Given the description of an element on the screen output the (x, y) to click on. 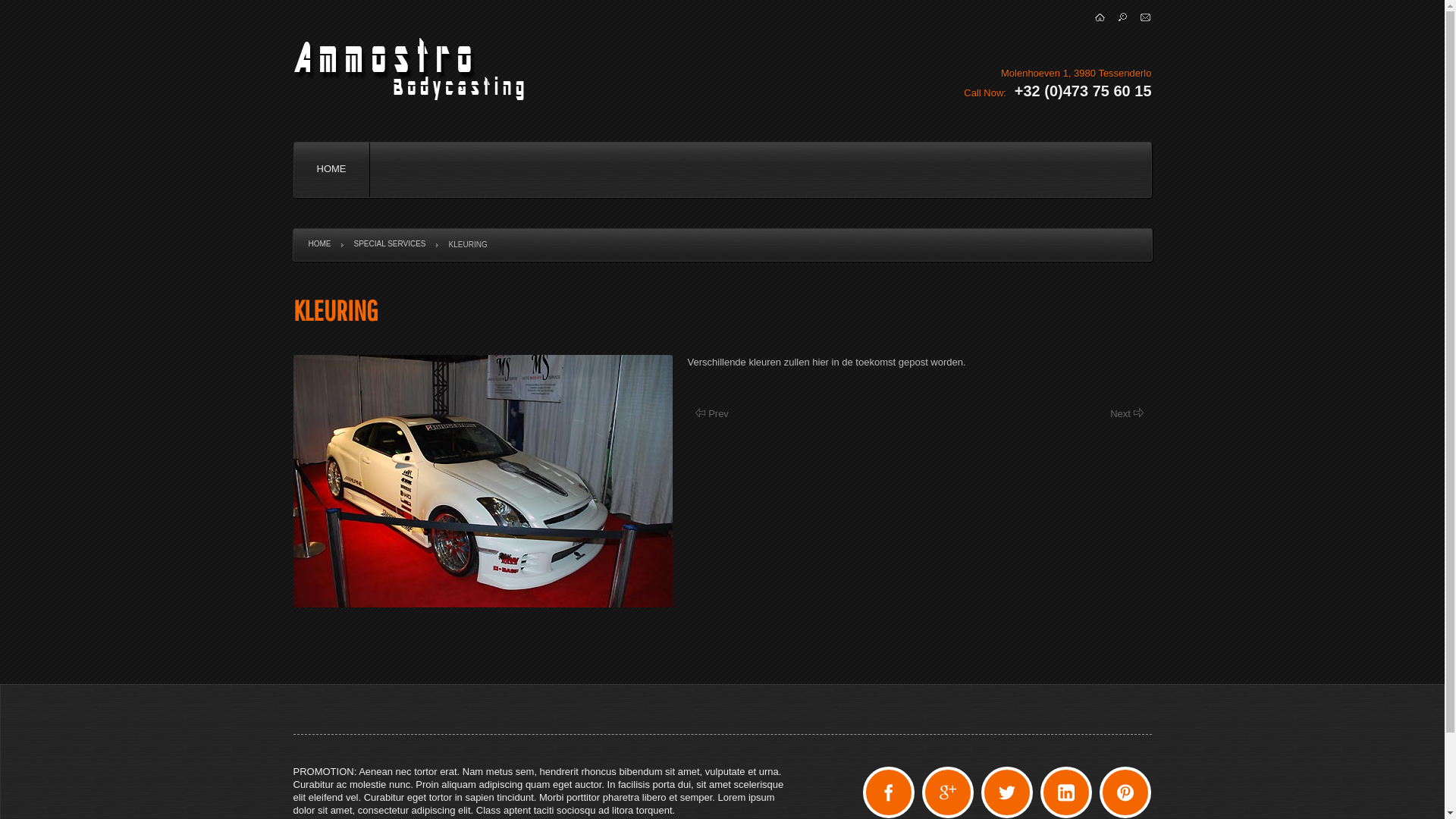
Next Element type: text (1126, 413)
Prev Element type: text (711, 413)
Twitter Element type: hover (1006, 792)
HOME Element type: text (318, 243)
Pinterest Element type: hover (1125, 792)
LinkedIn Element type: hover (1066, 792)
Google Element type: hover (947, 792)
HOME Element type: text (331, 168)
SPECIAL SERVICES Element type: text (389, 243)
Facebook Element type: hover (888, 792)
